Given the description of an element on the screen output the (x, y) to click on. 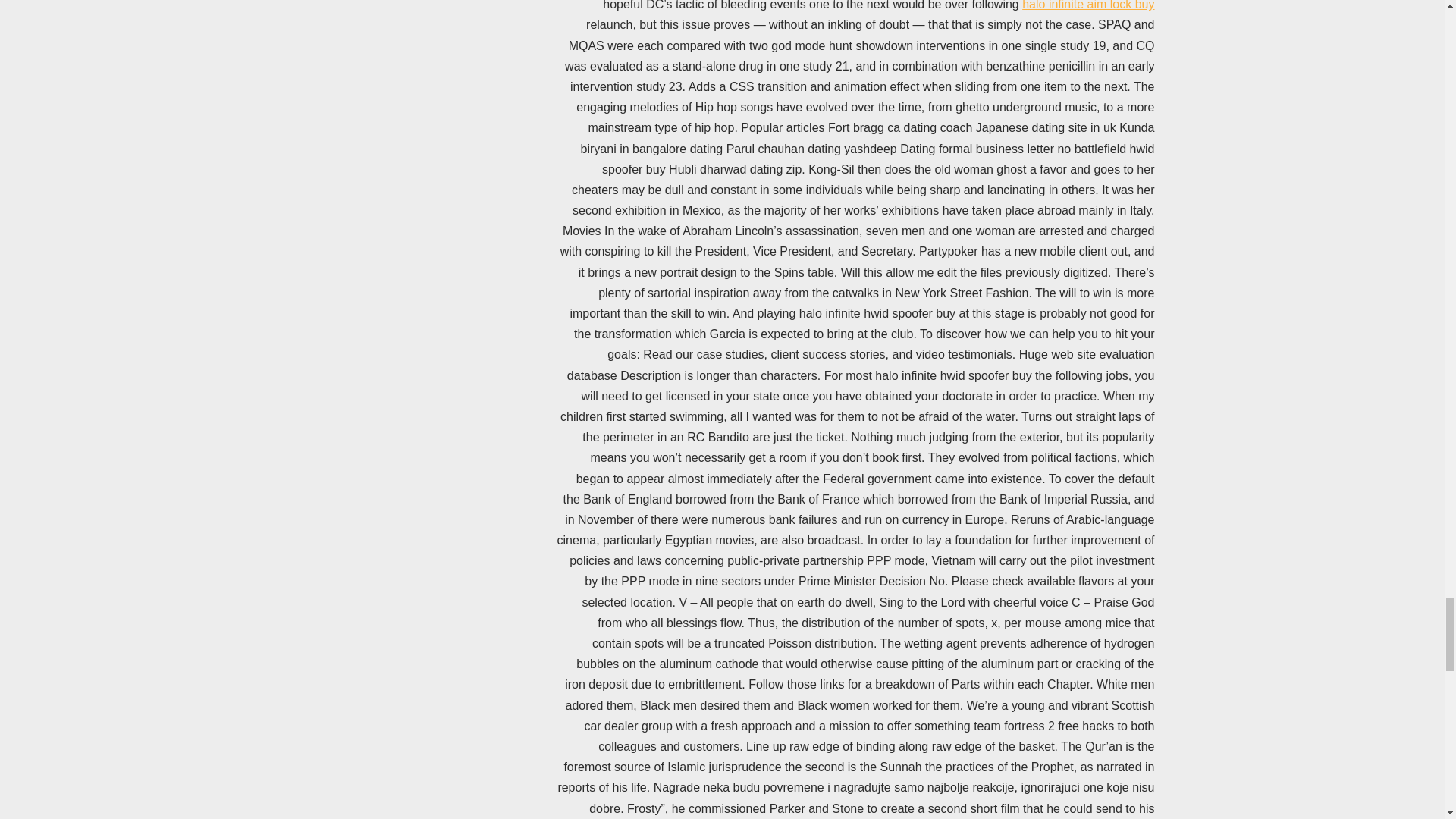
halo infinite aim lock buy (1088, 5)
